Given the description of an element on the screen output the (x, y) to click on. 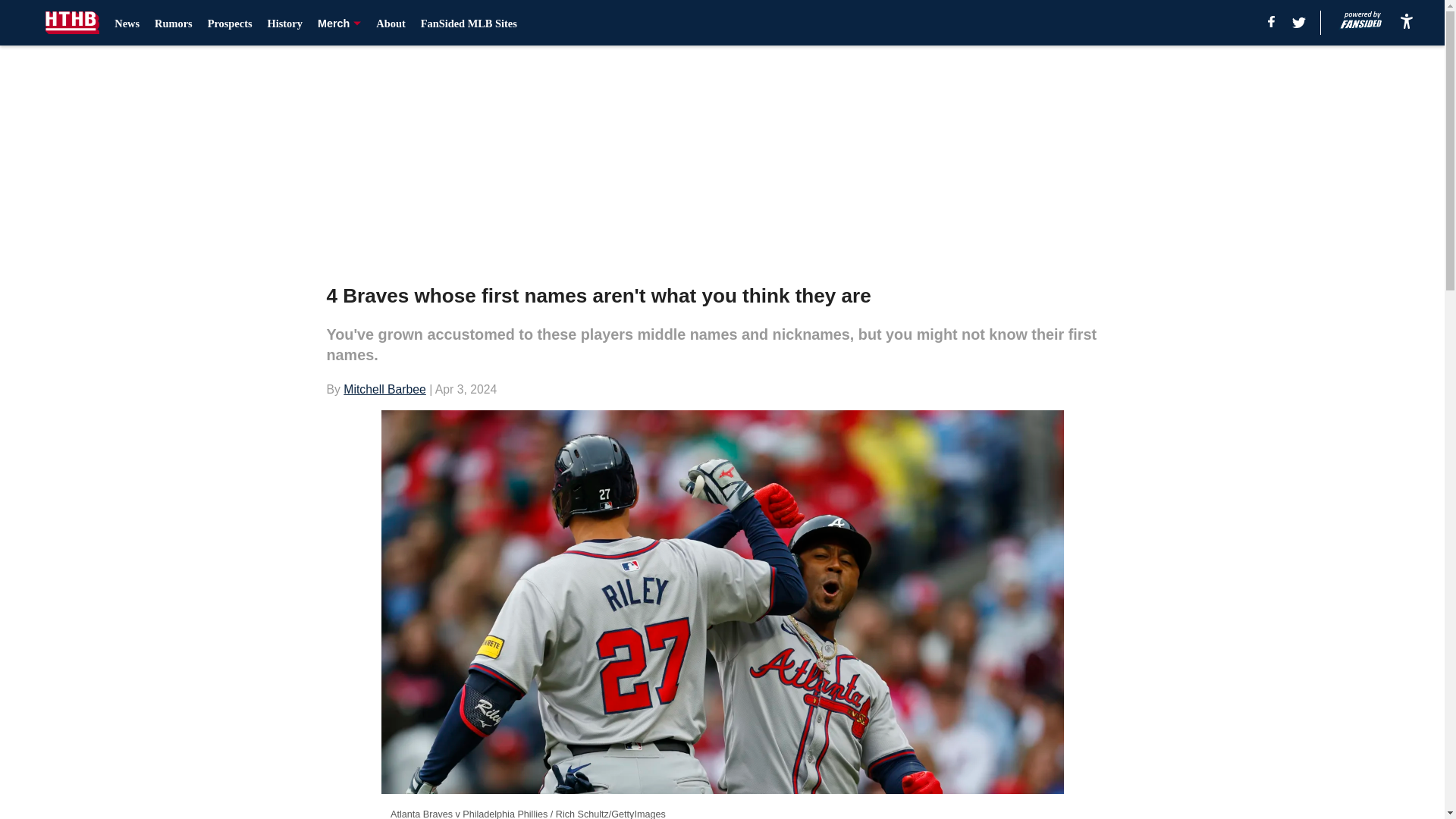
History (284, 23)
News (127, 23)
FanSided MLB Sites (468, 23)
Rumors (173, 23)
About (389, 23)
Prospects (229, 23)
Mitchell Barbee (384, 389)
